Given the description of an element on the screen output the (x, y) to click on. 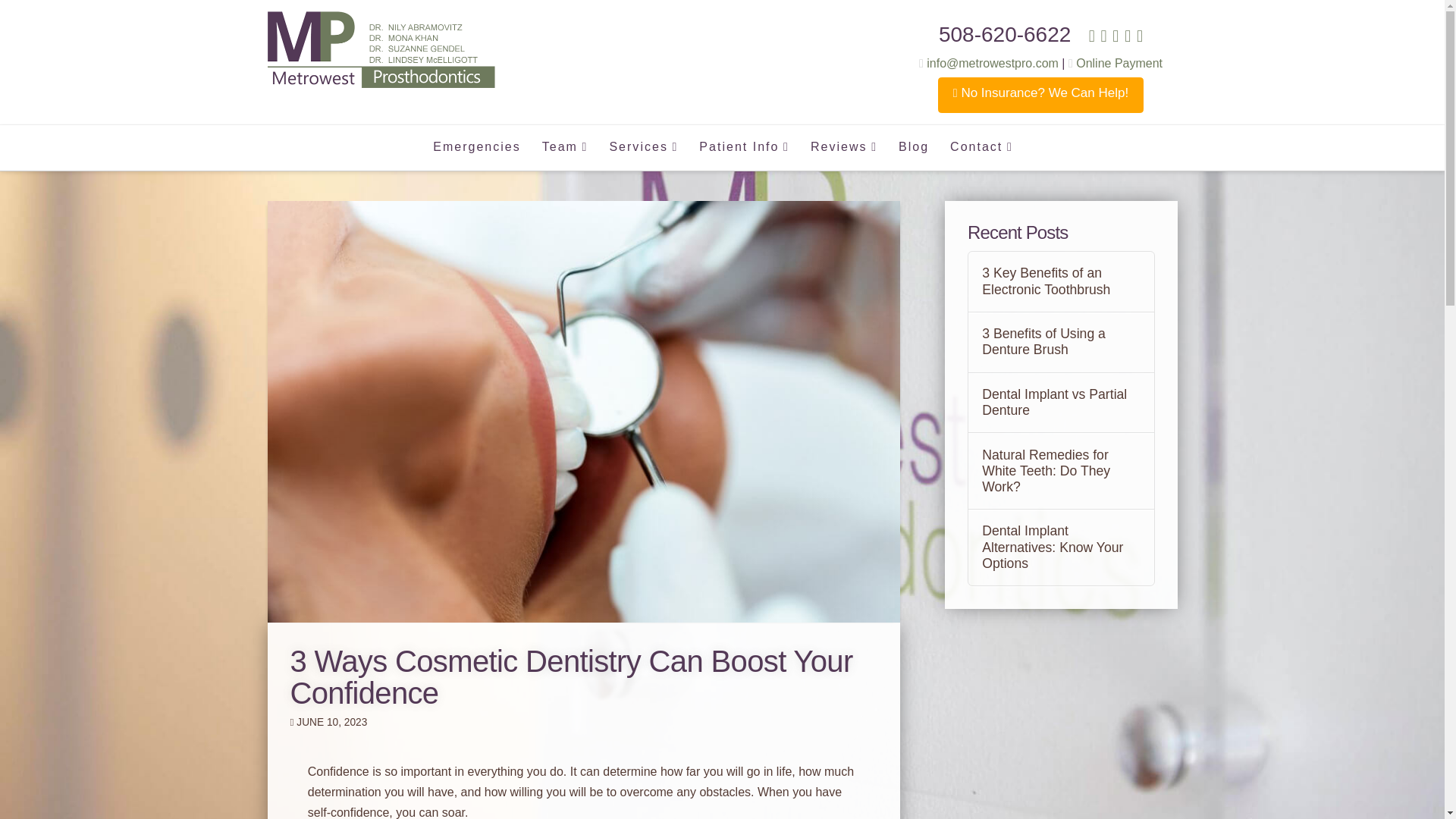
Team (564, 147)
Online Payment (1114, 62)
No Insurance? We Can Help! (1040, 94)
Reviews (842, 147)
Prosthodontics (380, 49)
Patient Info (743, 147)
Emergencies (476, 147)
Services (641, 147)
